Given the description of an element on the screen output the (x, y) to click on. 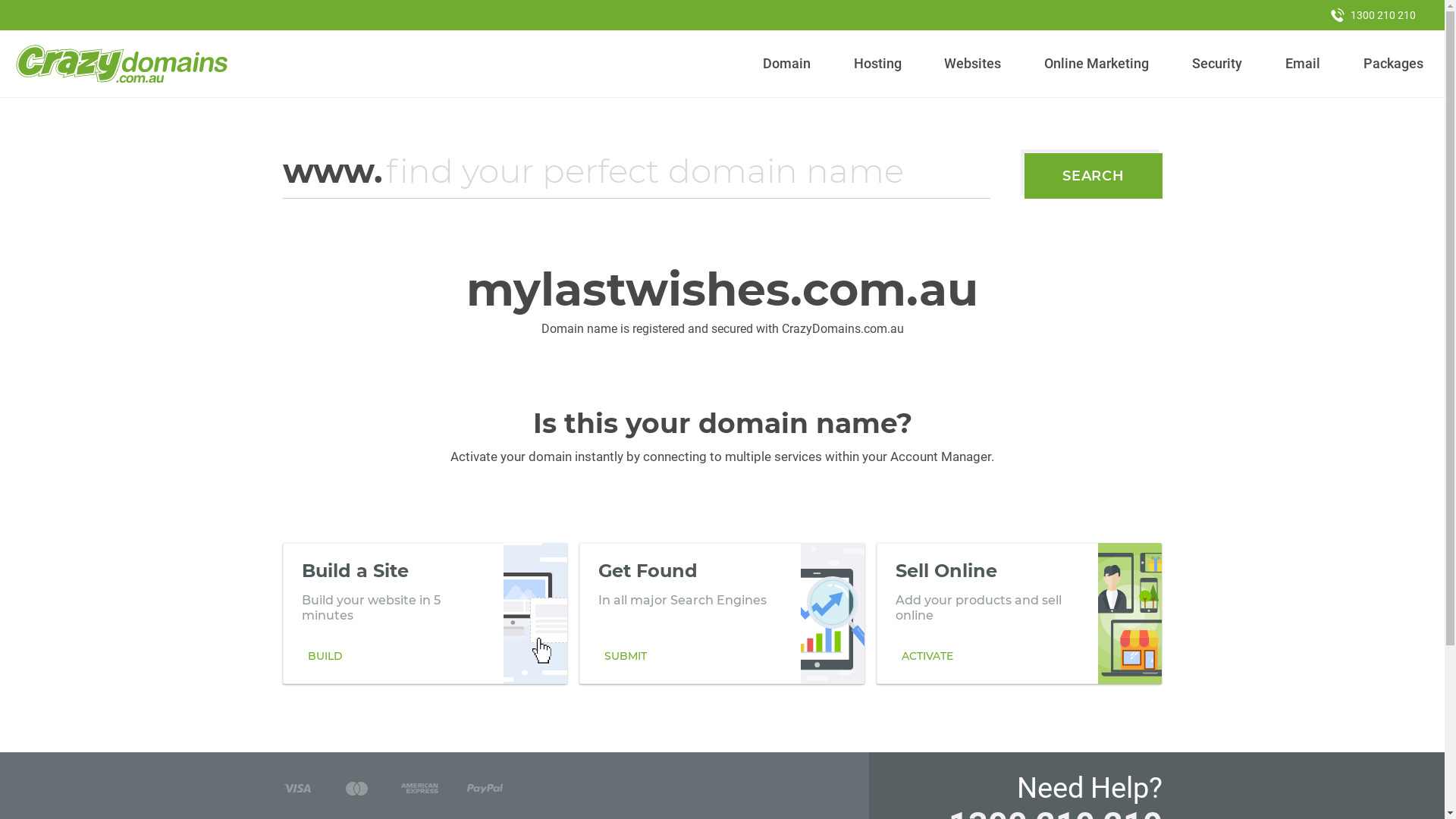
Get Found
In all major Search Engines
SUBMIT Element type: text (721, 613)
Security Element type: text (1217, 63)
Build a Site
Build your website in 5 minutes
BUILD Element type: text (424, 613)
Sell Online
Add your products and sell online
ACTIVATE Element type: text (1018, 613)
Domain Element type: text (786, 63)
Websites Element type: text (972, 63)
SEARCH Element type: text (1092, 175)
Hosting Element type: text (877, 63)
Online Marketing Element type: text (1096, 63)
Packages Element type: text (1392, 63)
Email Element type: text (1302, 63)
1300 210 210 Element type: text (1373, 15)
